Given the description of an element on the screen output the (x, y) to click on. 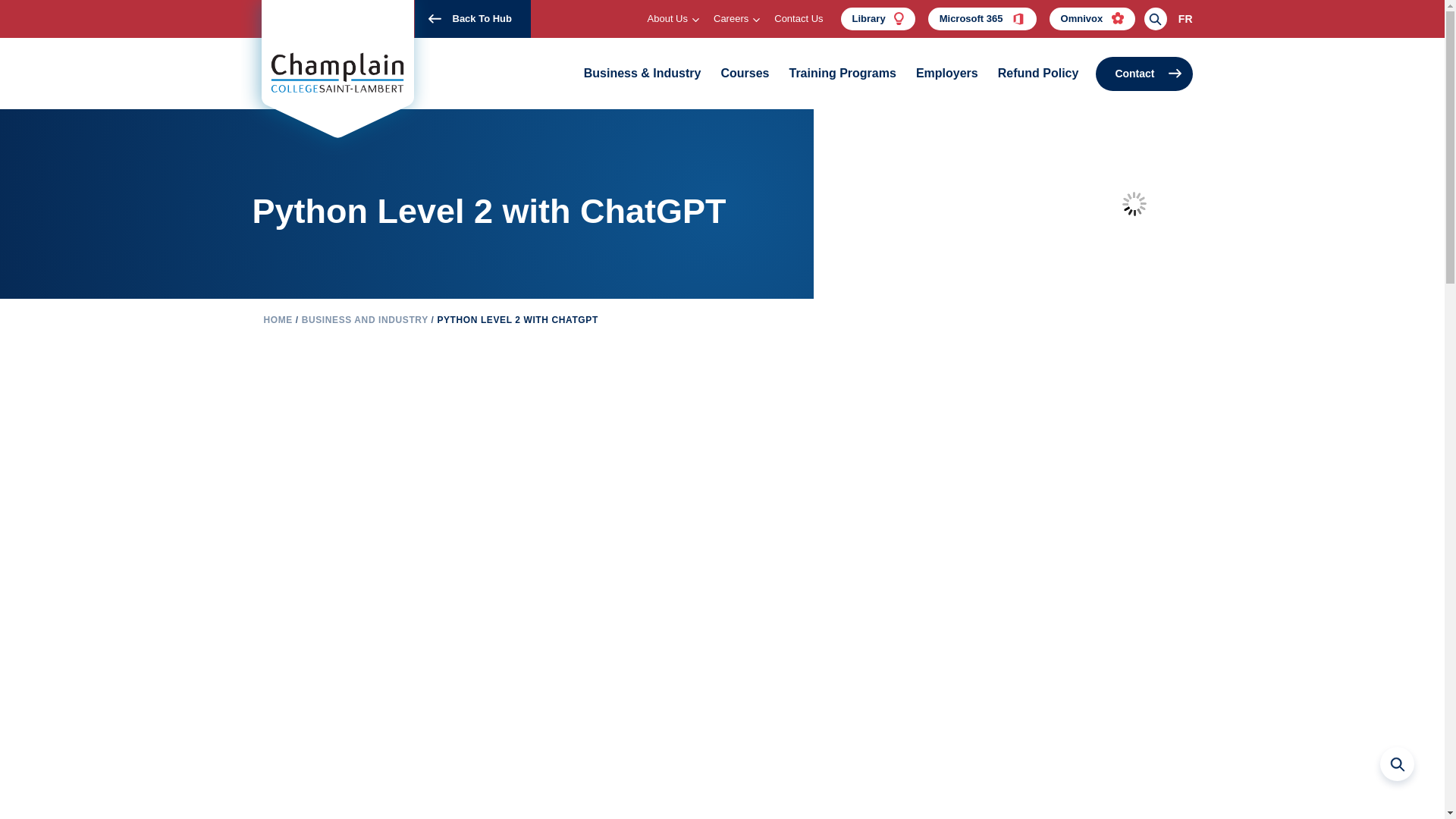
Employers (946, 73)
FR (1179, 19)
Courses (744, 73)
Back To Hub (472, 18)
Training Programs (841, 73)
Contact Us (798, 18)
About Us (670, 18)
Library (878, 18)
Contact (1144, 73)
Careers (733, 18)
